Given the description of an element on the screen output the (x, y) to click on. 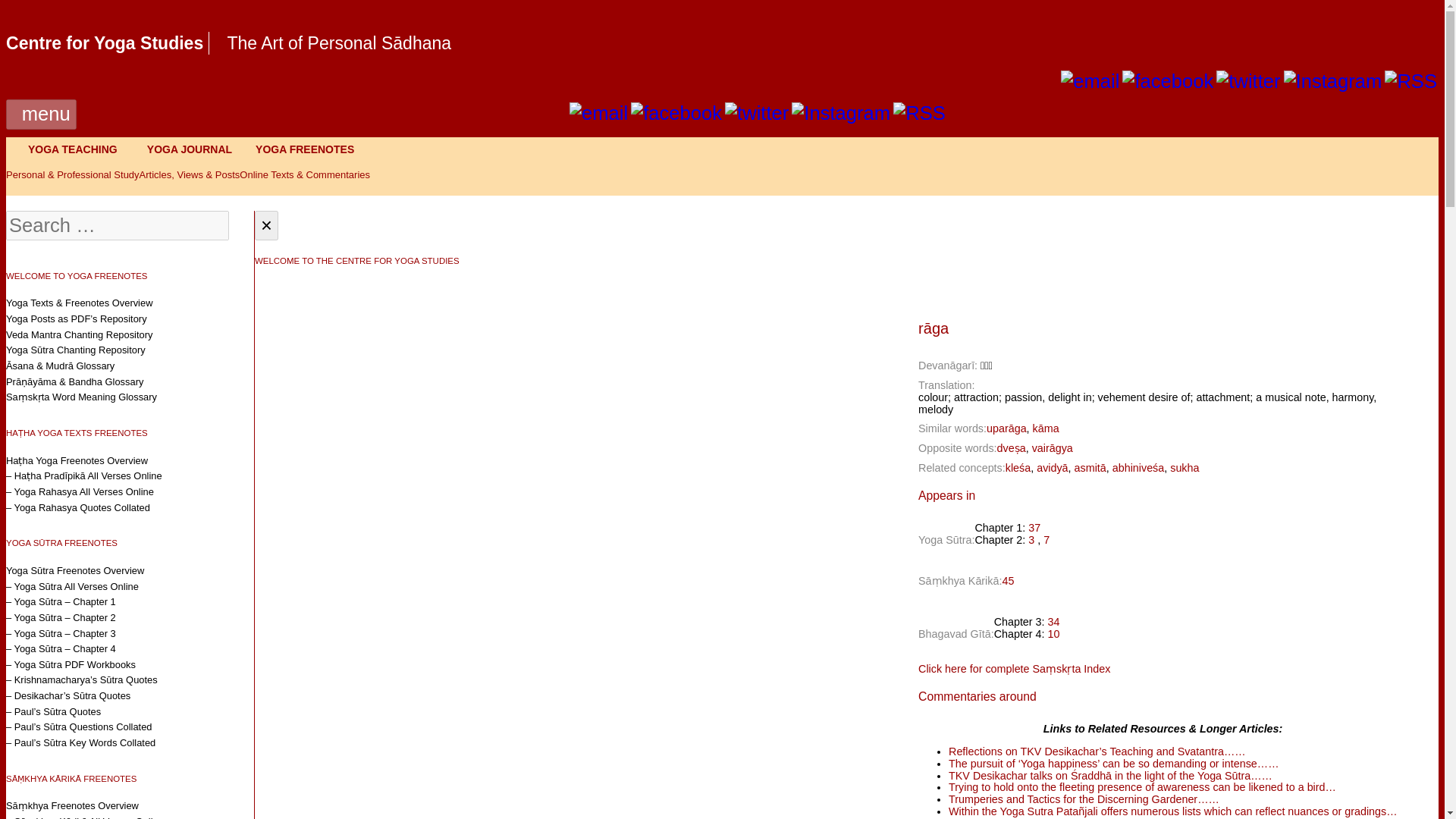
email (1090, 81)
facebook (1167, 80)
facebook (1167, 81)
Veda Mantra Chanting Repository (78, 334)
Centre for Yoga Studies (104, 43)
email (598, 113)
Instagram (1333, 80)
menu (41, 113)
Instagram (1332, 81)
twitter (1247, 80)
email (1090, 80)
twitter (1247, 81)
Centre for Yoga Studies (104, 43)
email (597, 112)
